Given the description of an element on the screen output the (x, y) to click on. 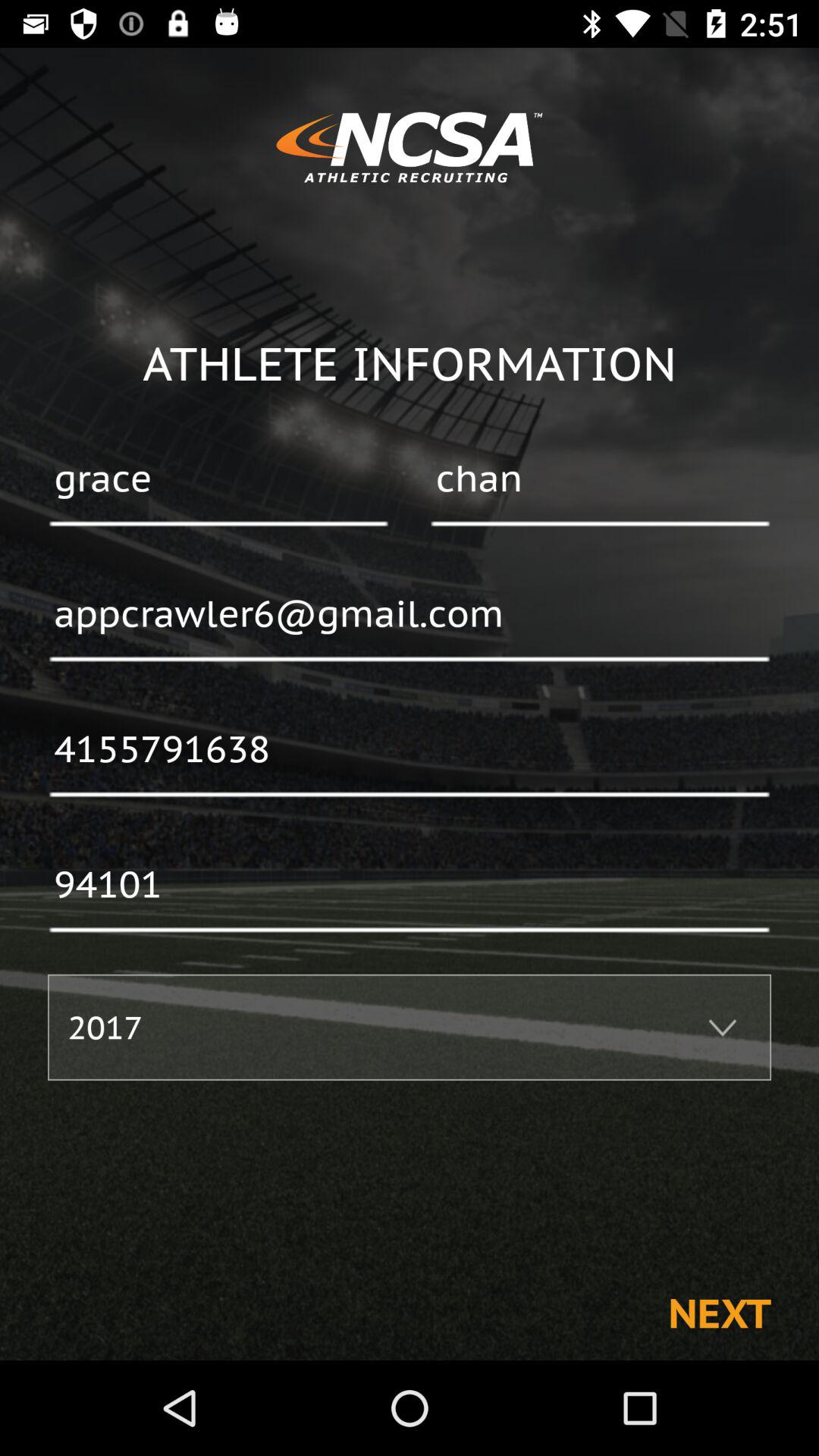
jump to the appcrawler6@gmail.com item (409, 615)
